Given the description of an element on the screen output the (x, y) to click on. 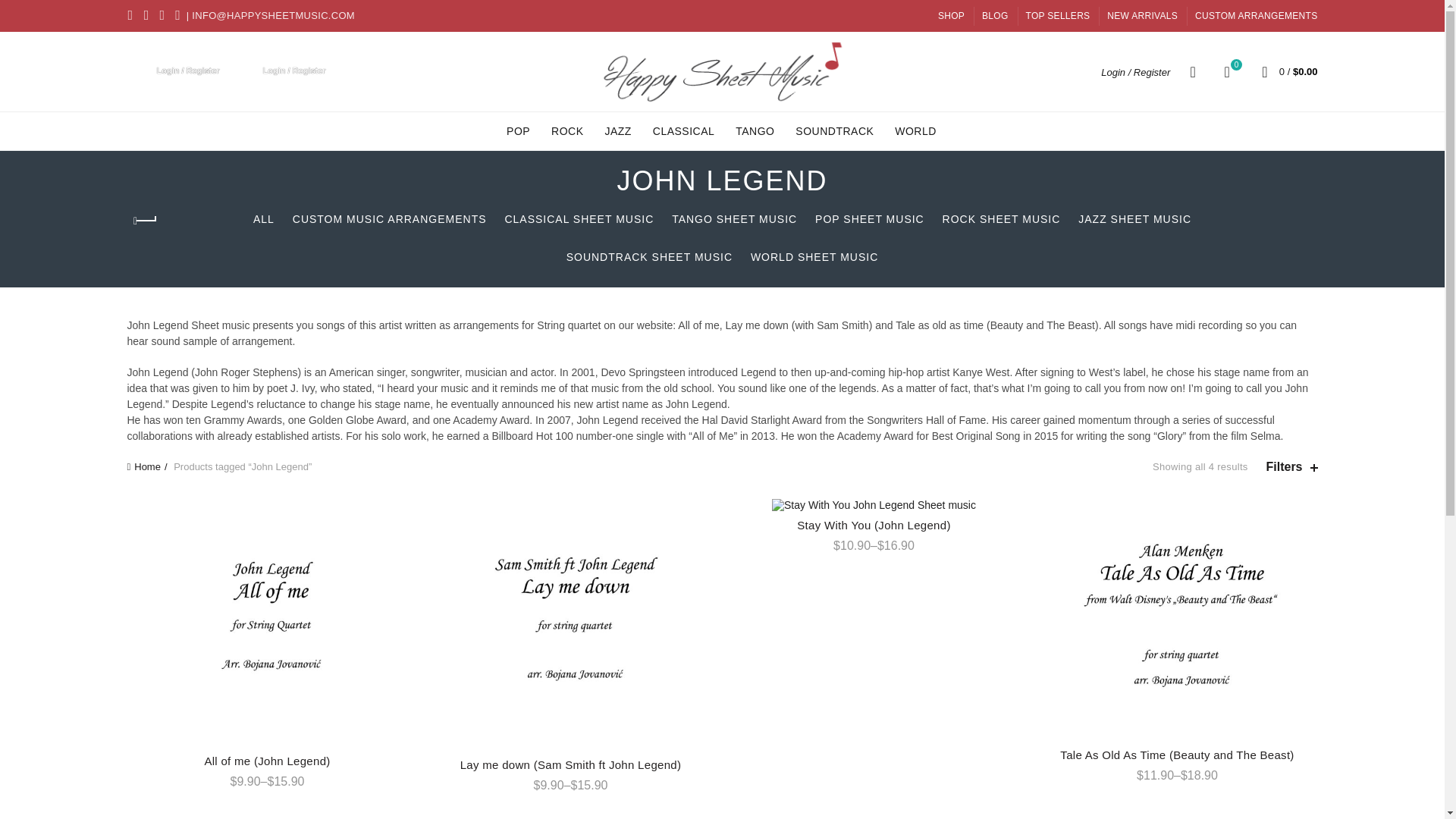
ROCK (566, 130)
Back (146, 220)
POP (518, 130)
CUSTOM MUSIC ARRANGEMENTS (390, 218)
TANGO (754, 130)
BLOG (995, 15)
ALL (264, 218)
CLASSICAL (1227, 71)
CLASSICAL SHEET MUSIC (684, 130)
